Given the description of an element on the screen output the (x, y) to click on. 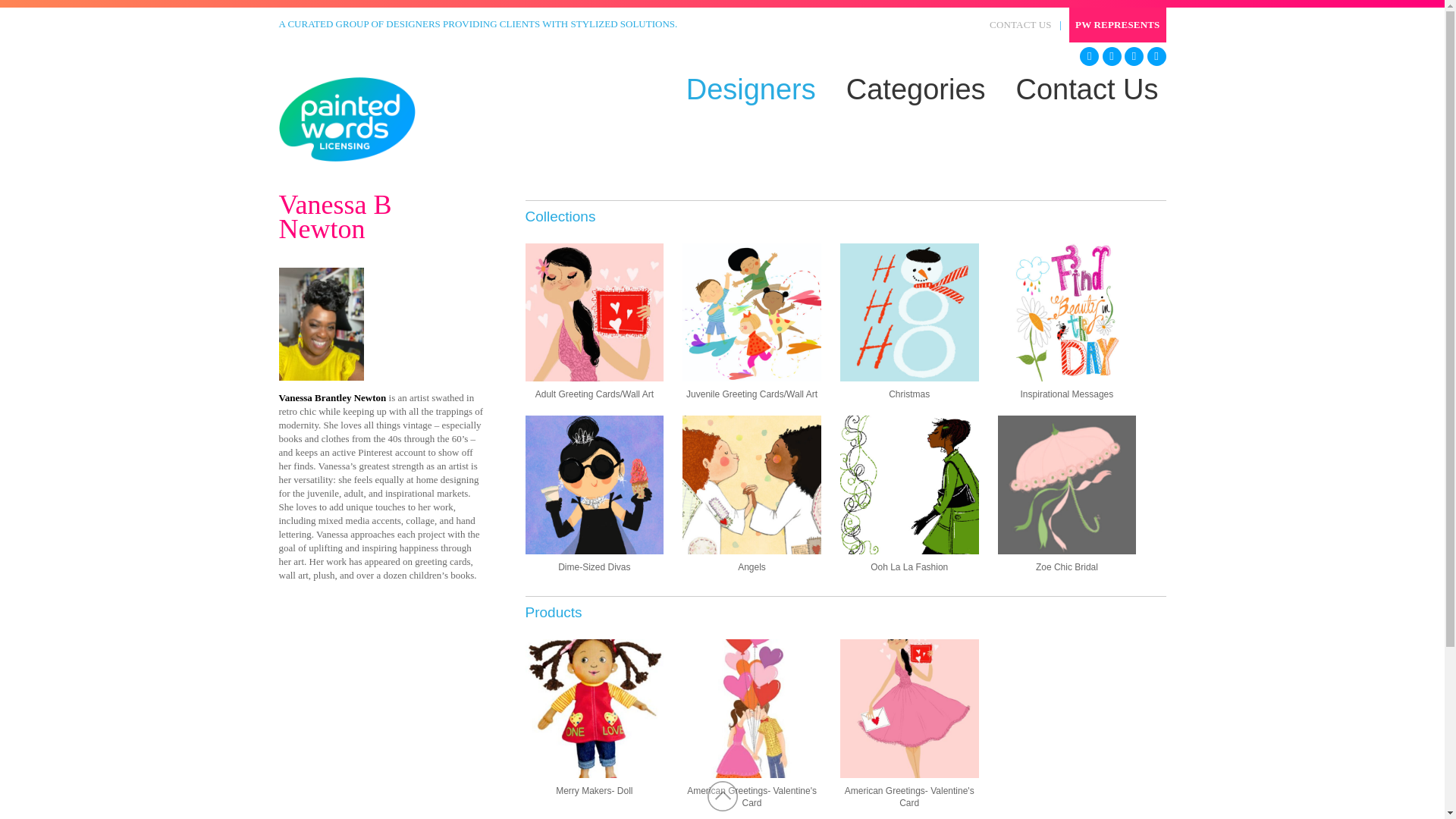
Designers (751, 89)
CONTACT US (836, 89)
Categories (1022, 24)
PW REPRESENTS (915, 89)
